Given the description of an element on the screen output the (x, y) to click on. 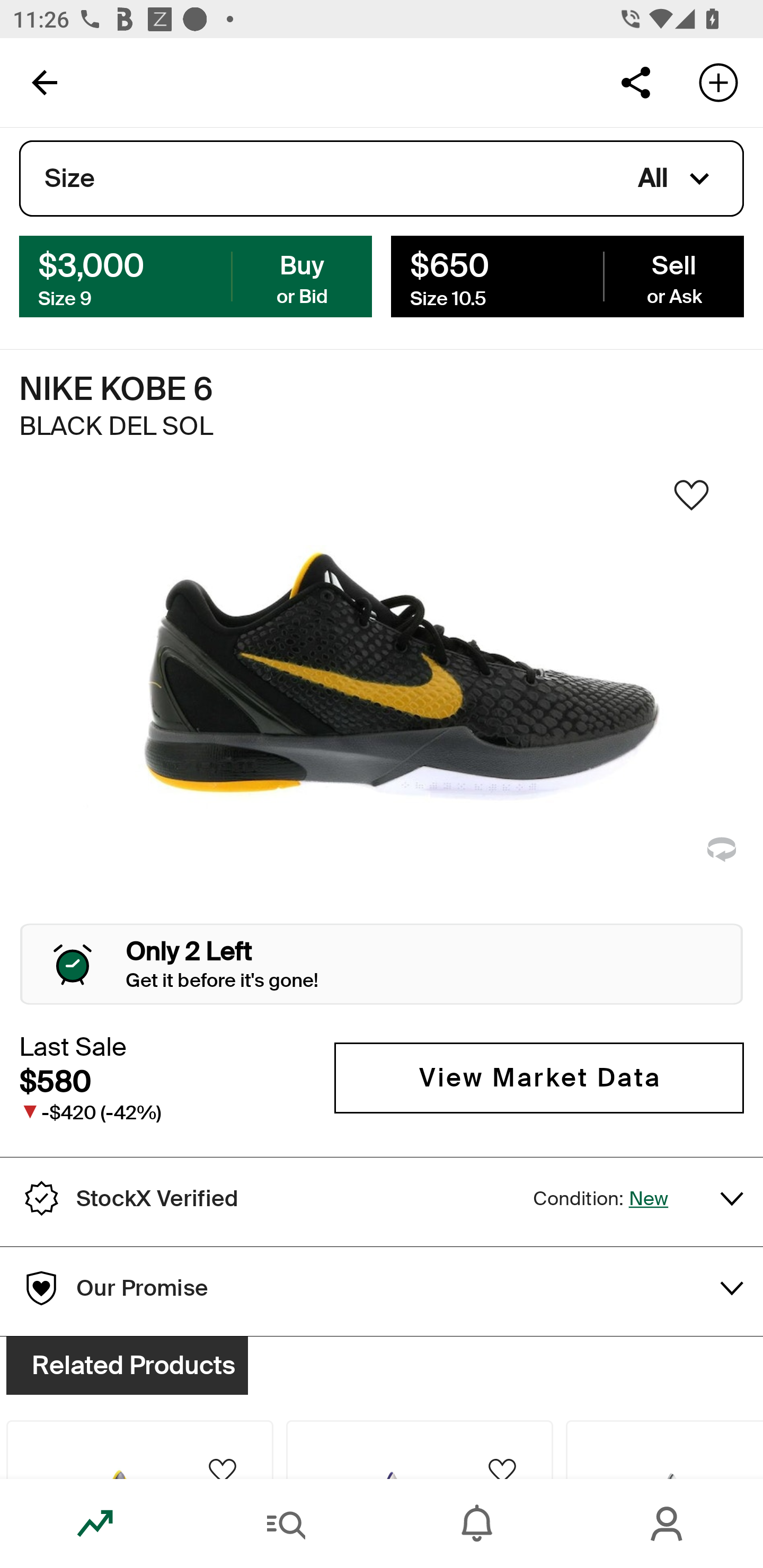
Share (635, 81)
Add (718, 81)
Size All (381, 178)
$146 Buy Size 4.5 or Bid (195, 275)
$260 Sell Size 12.5 or Ask (566, 275)
Sneaker Image (381, 699)
View Market Data (538, 1077)
Search (285, 1523)
Inbox (476, 1523)
Account (667, 1523)
